Given the description of an element on the screen output the (x, y) to click on. 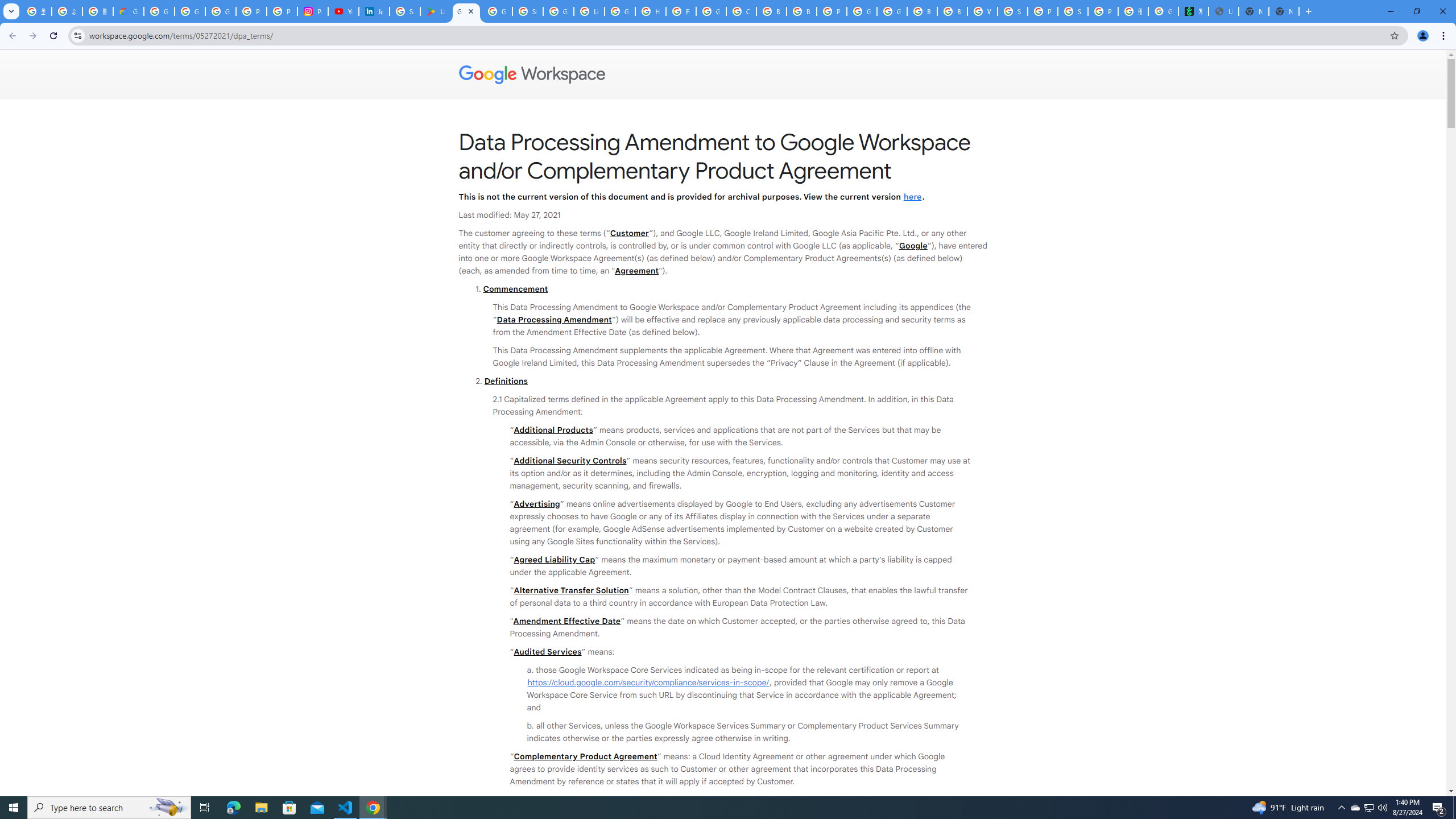
Last Shelter: Survival - Apps on Google Play (434, 11)
Sign in - Google Accounts (527, 11)
Sign in - Google Accounts (1012, 11)
Privacy Help Center - Policies Help (282, 11)
New Tab (1283, 11)
Google Workspace - Specific Terms (496, 11)
